Given the description of an element on the screen output the (x, y) to click on. 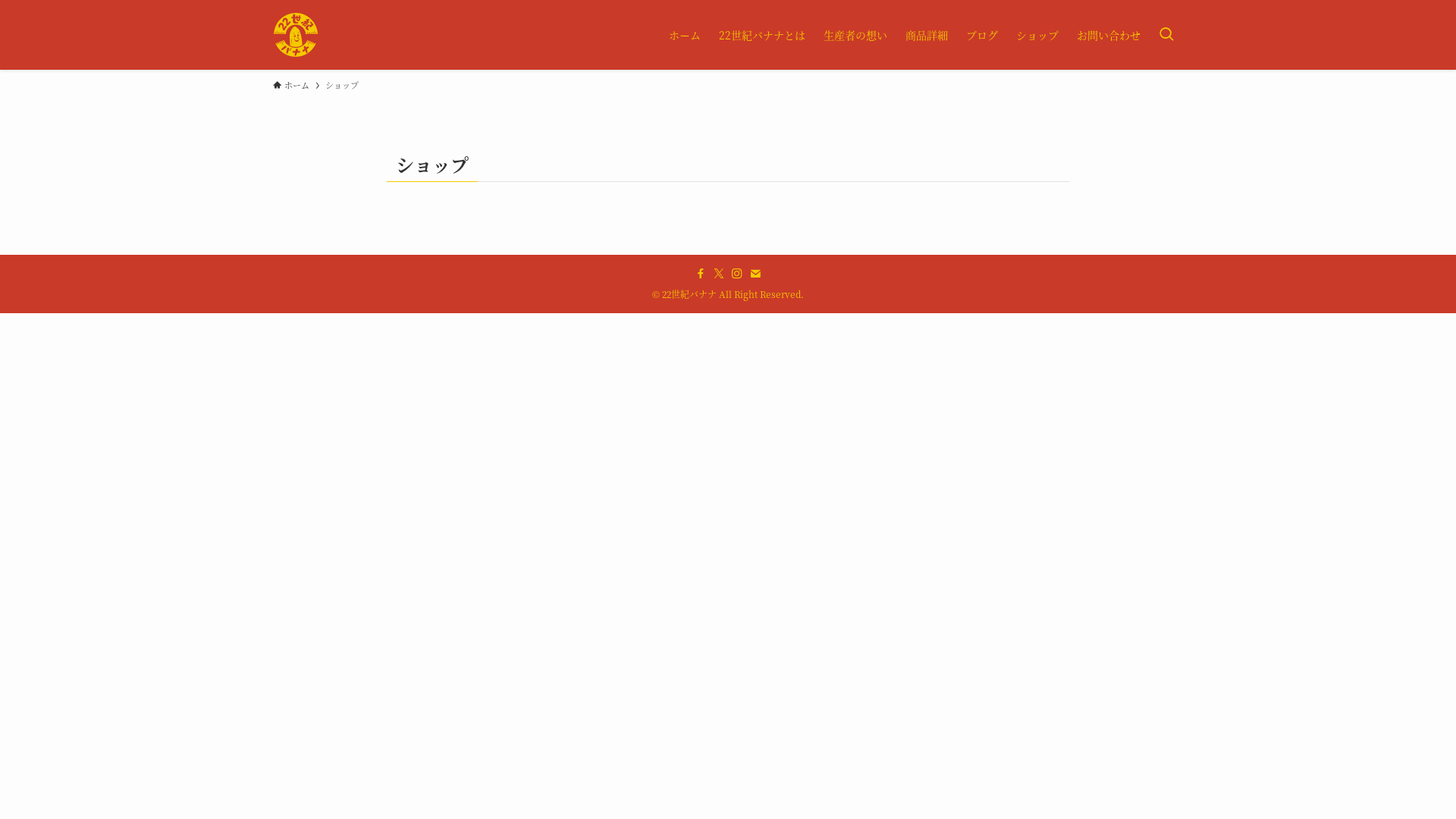
search Element type: text (928, 421)
